Given the description of an element on the screen output the (x, y) to click on. 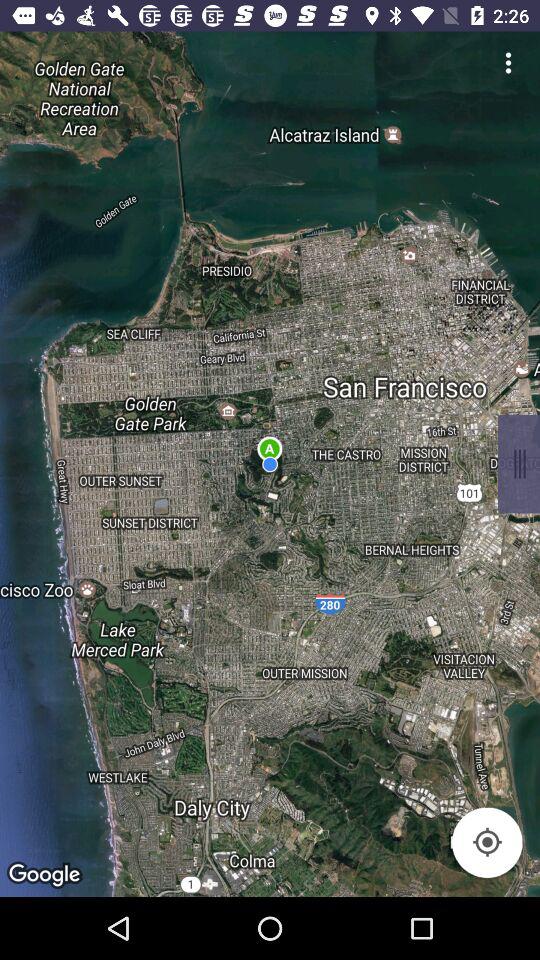
toggle sidebar (519, 463)
